Given the description of an element on the screen output the (x, y) to click on. 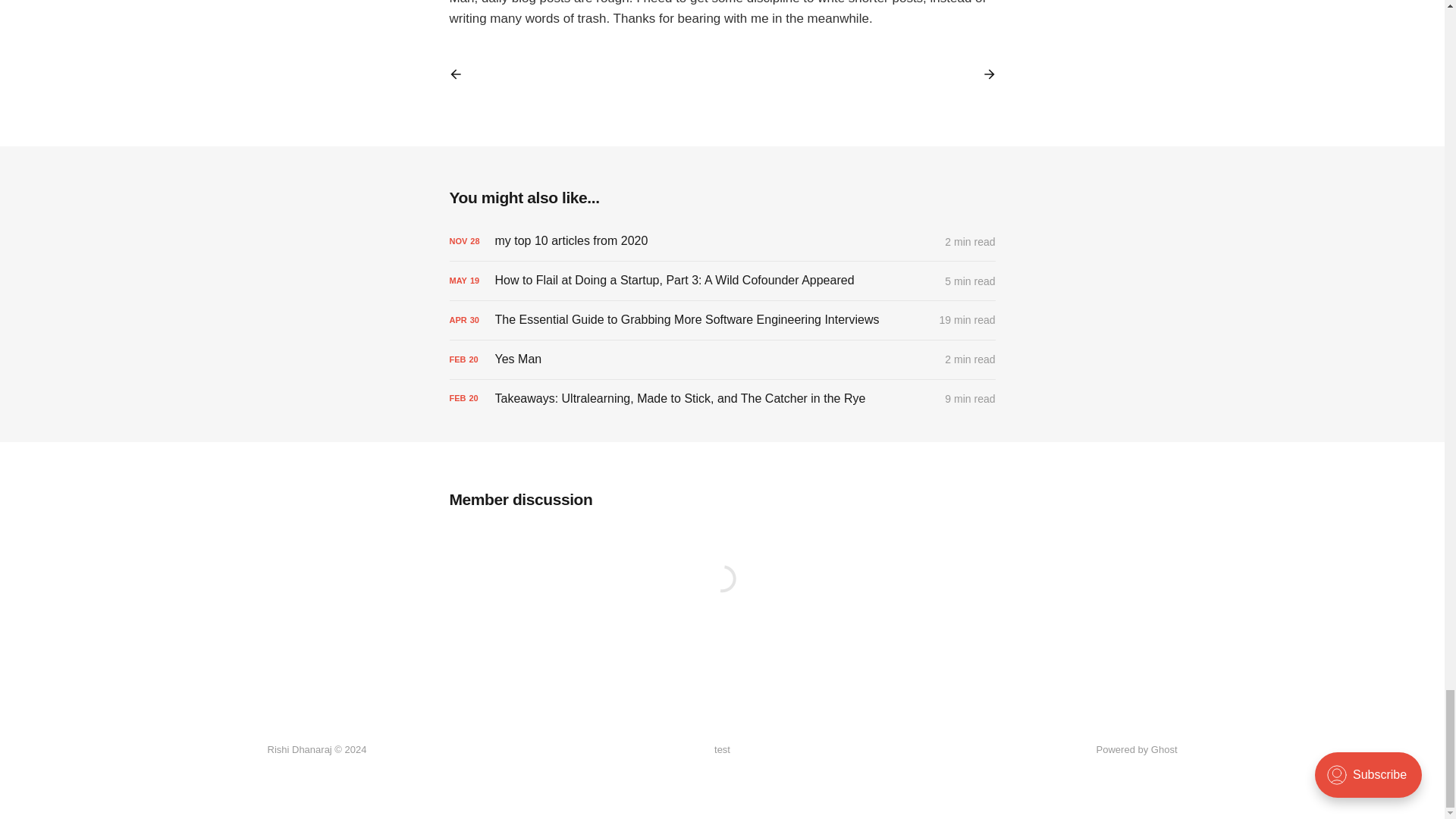
comments-frame (721, 596)
test (722, 750)
Powered by Ghost (1136, 749)
